Given the description of an element on the screen output the (x, y) to click on. 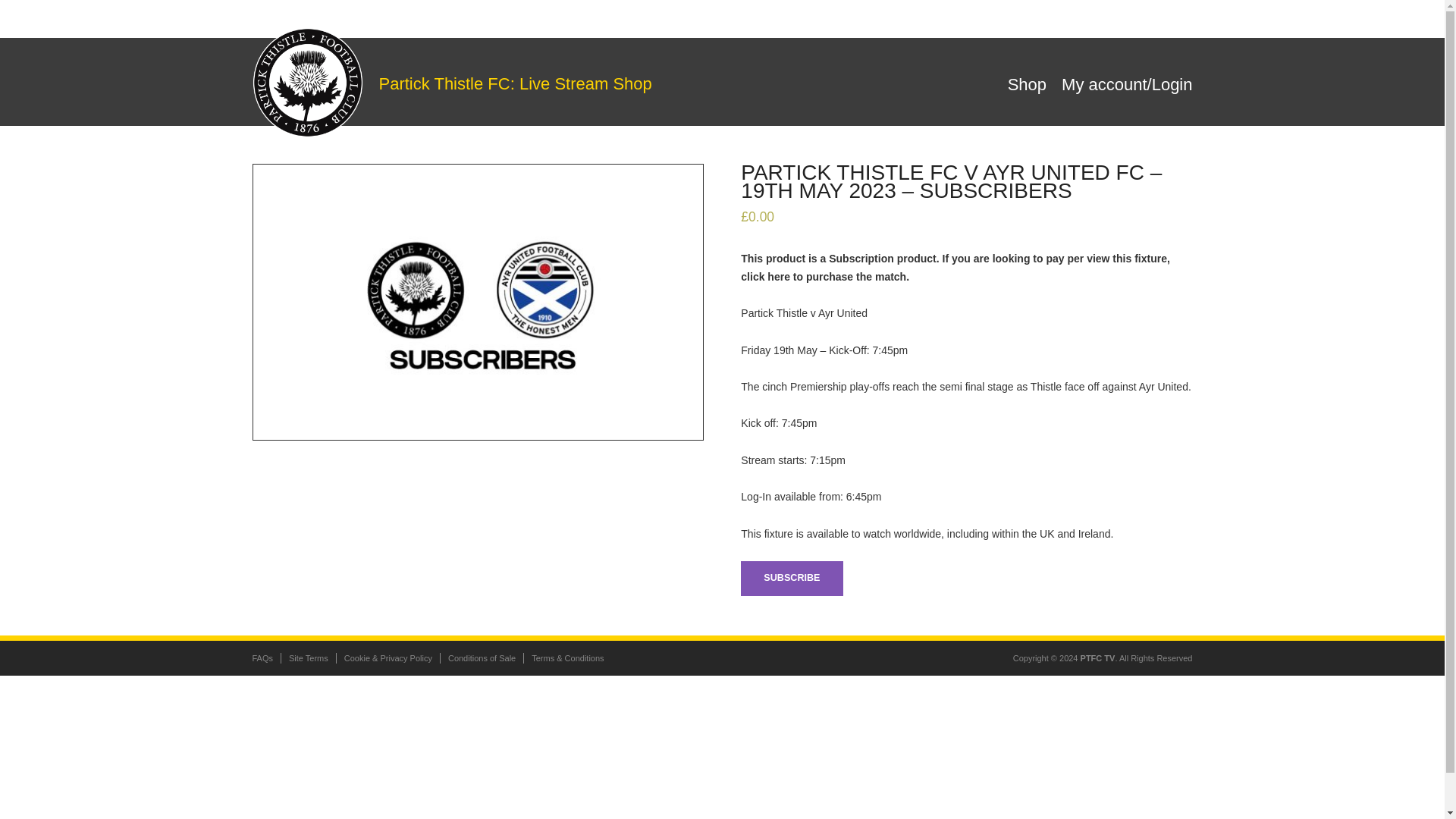
FAQs (262, 657)
Site Terms (308, 657)
Shop (1030, 83)
Conditions of Sale (481, 657)
SUBSCRIBE (792, 578)
PTFC TV (1097, 657)
Ayr Stream Subscribers (478, 290)
